Given the description of an element on the screen output the (x, y) to click on. 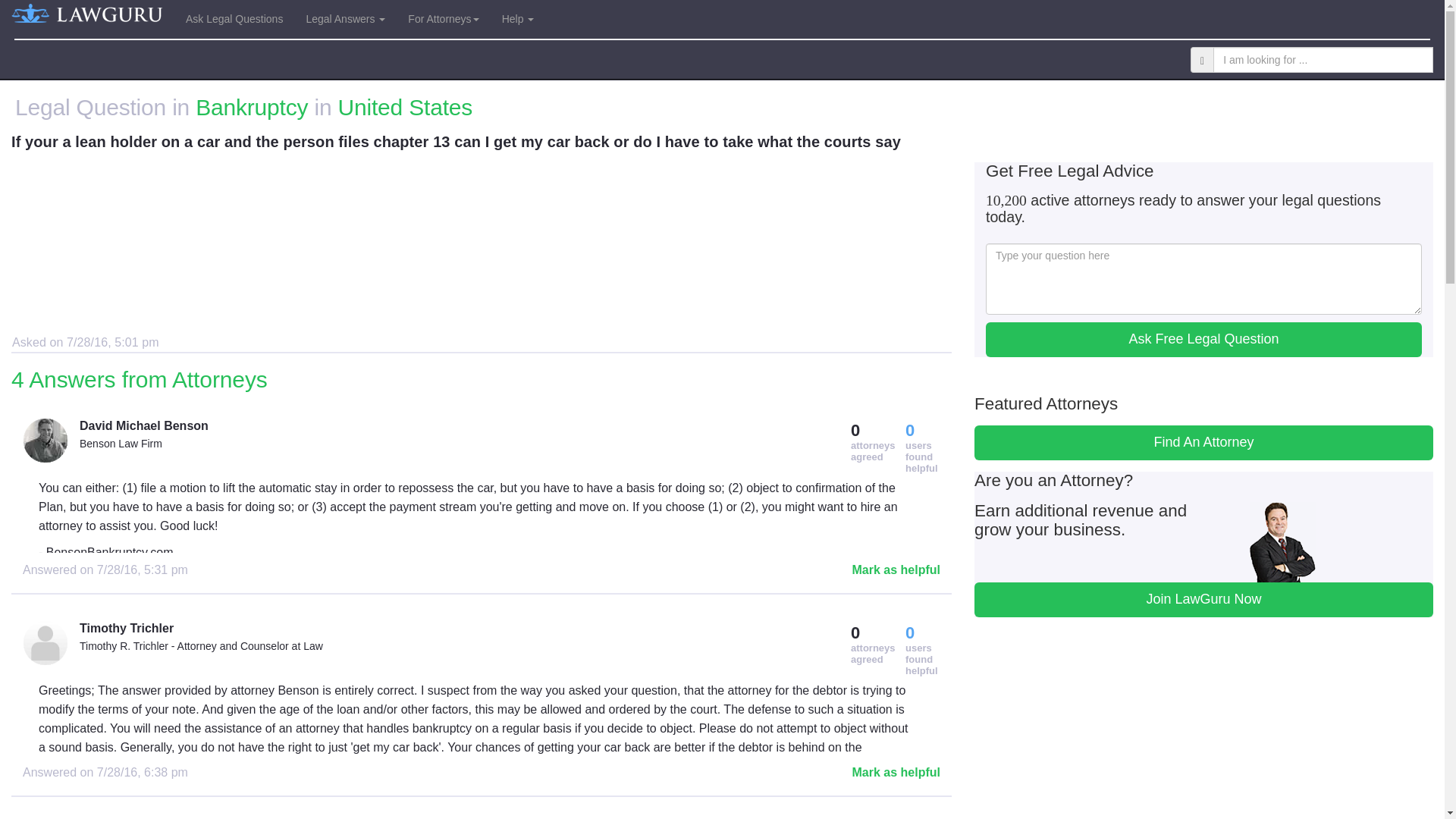
United States (405, 107)
David Michael Benson (378, 425)
Legal Answers (345, 18)
Help (518, 18)
Bankruptcy (251, 107)
For Attorneys (442, 18)
Ask Legal Questions (234, 18)
Timothy Trichler (378, 628)
Mark as helpful (895, 569)
